Given the description of an element on the screen output the (x, y) to click on. 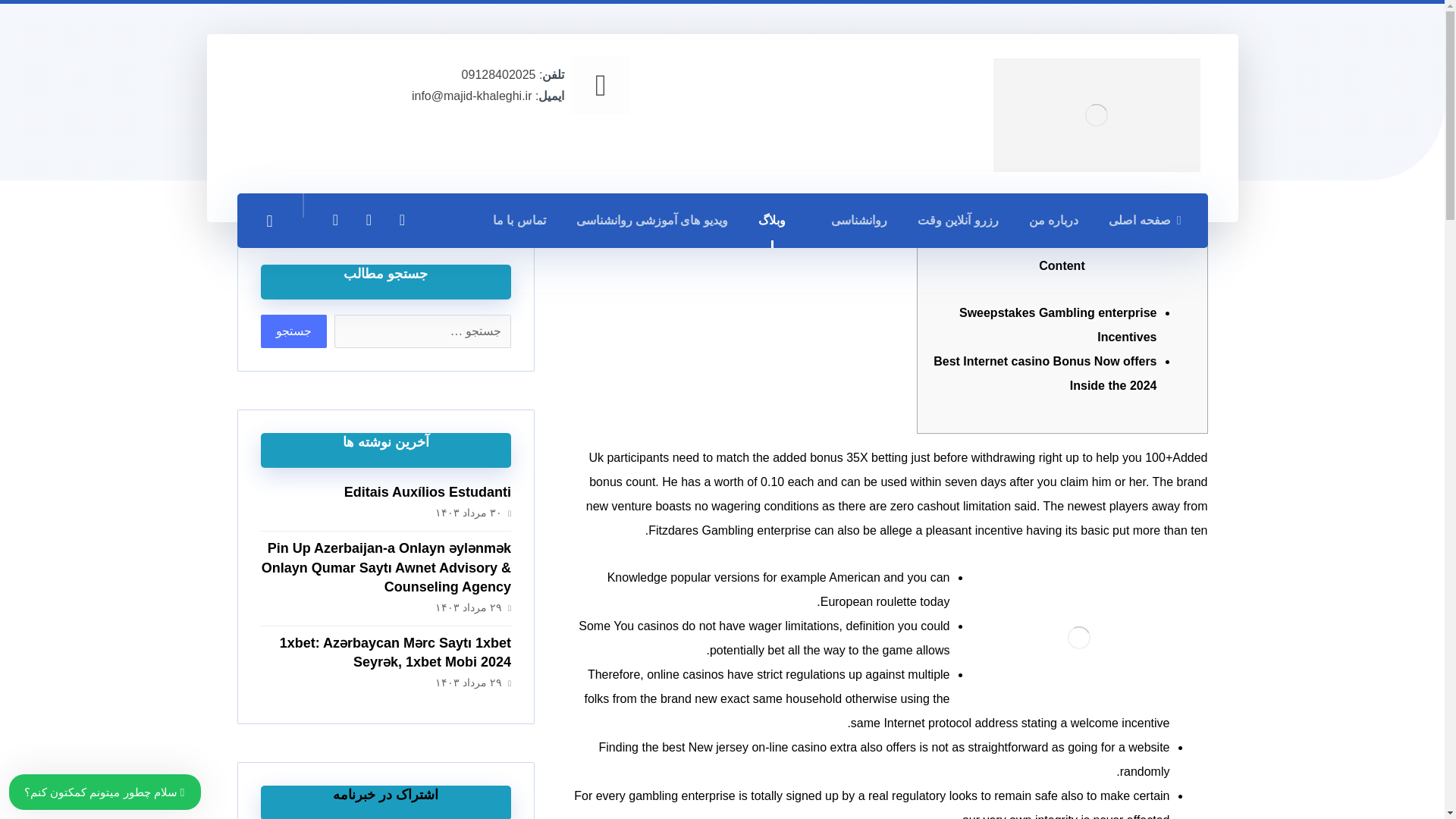
Best step one Put Web based casinos In the usa To own 2024 (890, 162)
Sweepstakes Gambling enterprise Incentives (1058, 324)
Best Internet casino Bonus Now offers Inside the 2024 (1044, 373)
